Given the description of an element on the screen output the (x, y) to click on. 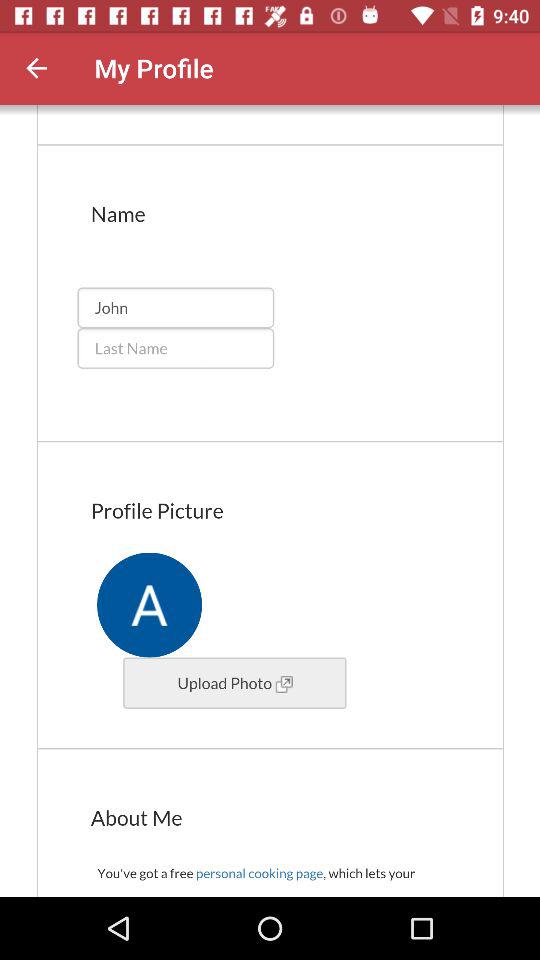
come back previous page (36, 68)
